Given the description of an element on the screen output the (x, y) to click on. 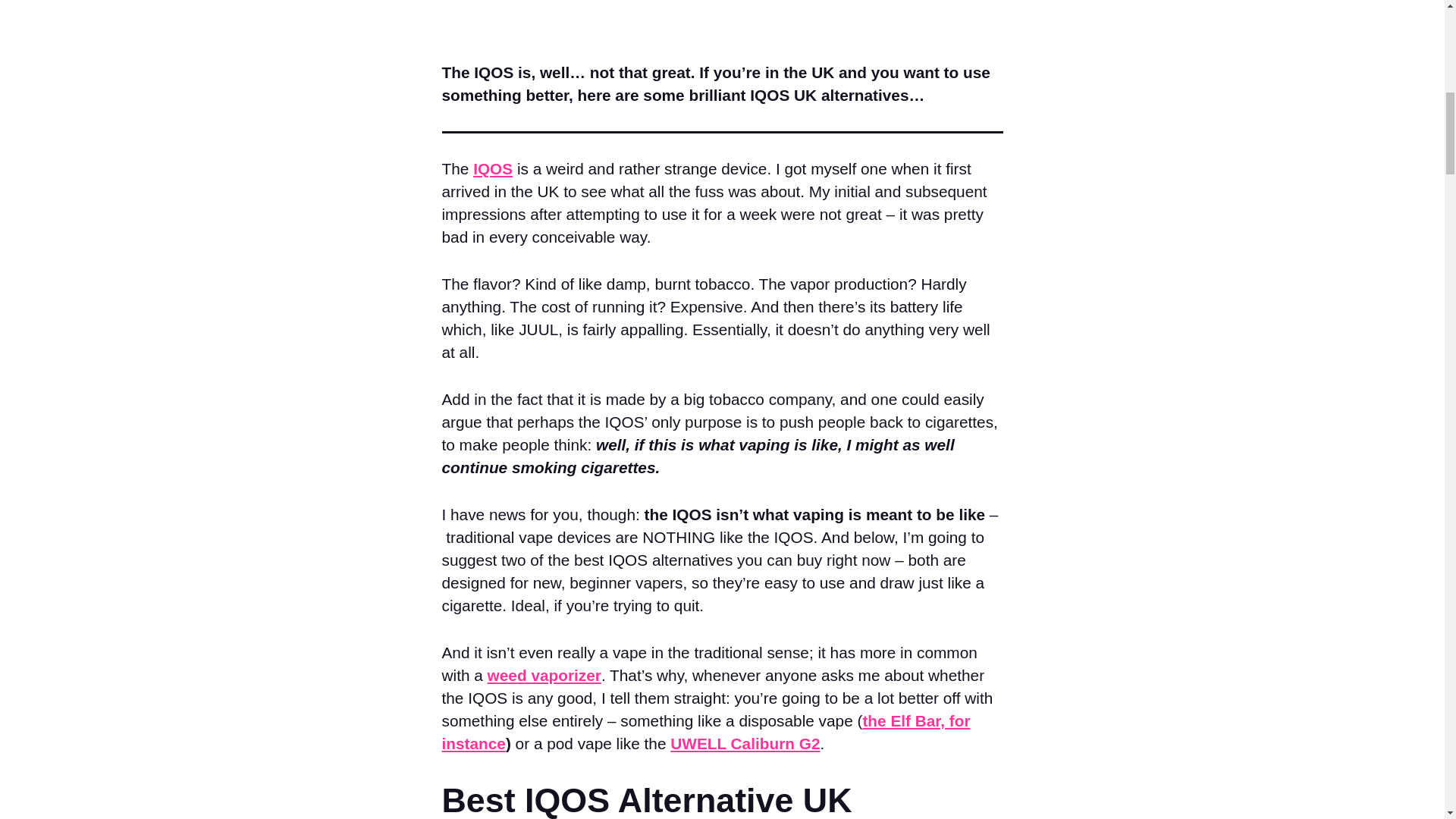
IQOS (492, 168)
weed vaporizer (544, 674)
the Elf Bar, for instance (705, 731)
